Given the description of an element on the screen output the (x, y) to click on. 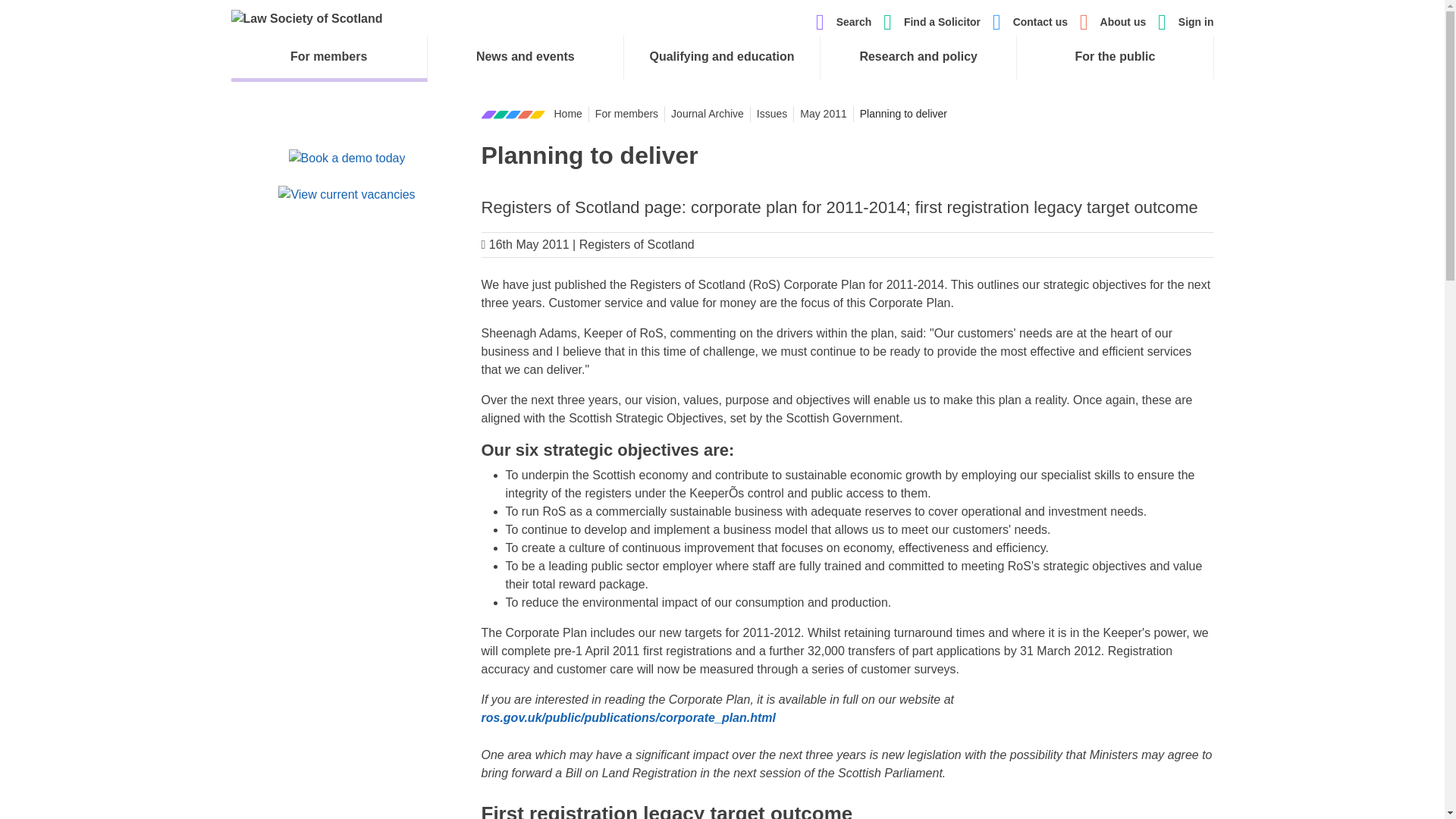
View current vacancies (346, 194)
Book a demo today (347, 157)
Home (305, 18)
Sign in (1195, 22)
Find a Solicitor (941, 22)
Contact us (1040, 22)
Search (842, 22)
Qualifying and education (721, 56)
News and events (525, 56)
About us (1123, 22)
For members (328, 56)
